Given the description of an element on the screen output the (x, y) to click on. 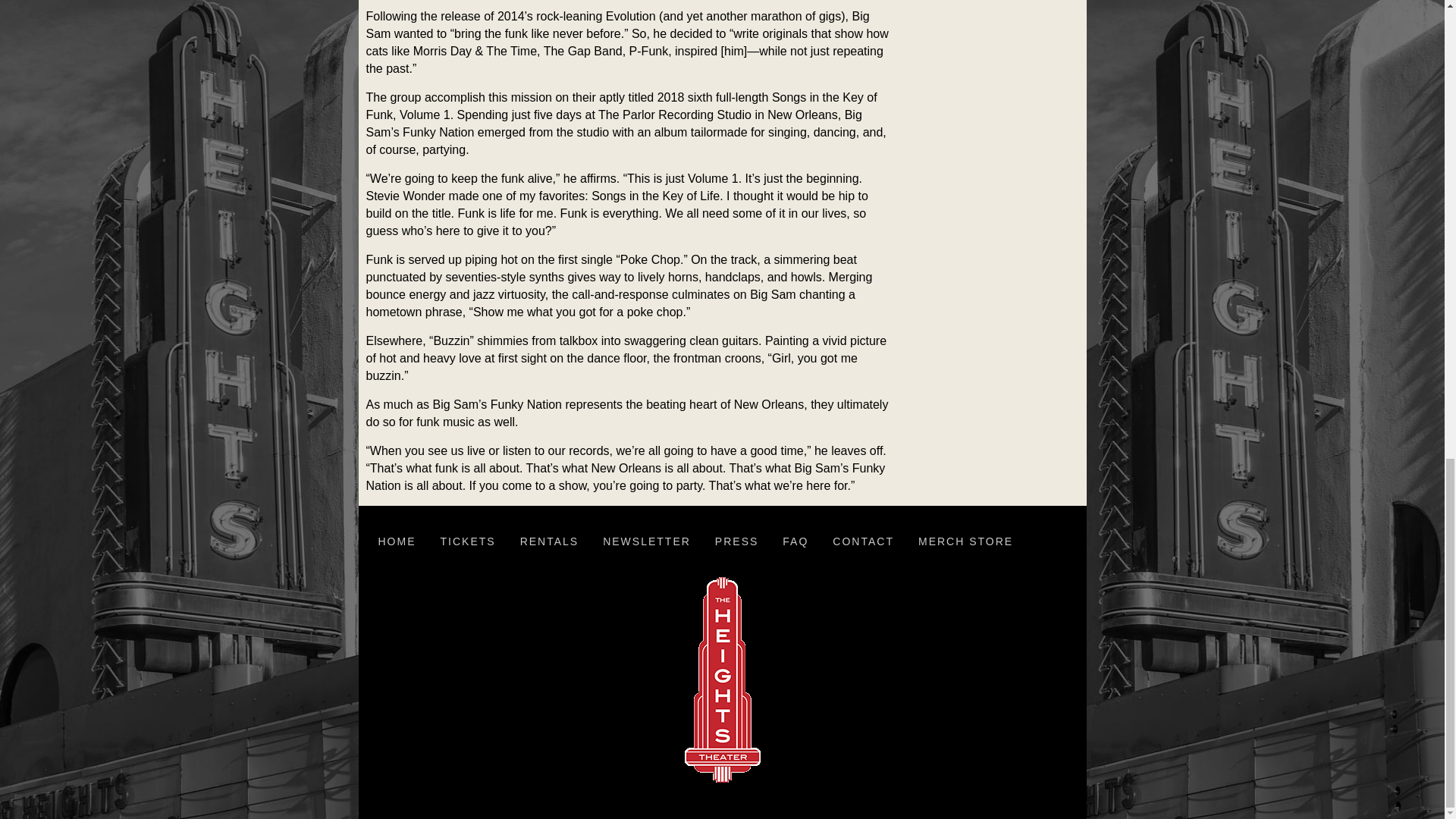
CONTACT (863, 541)
PRESS (736, 541)
NEWSLETTER (647, 541)
TICKETS (467, 541)
RENTALS (549, 541)
MERCH STORE (965, 541)
HOME (396, 541)
FAQ (795, 541)
